Given the description of an element on the screen output the (x, y) to click on. 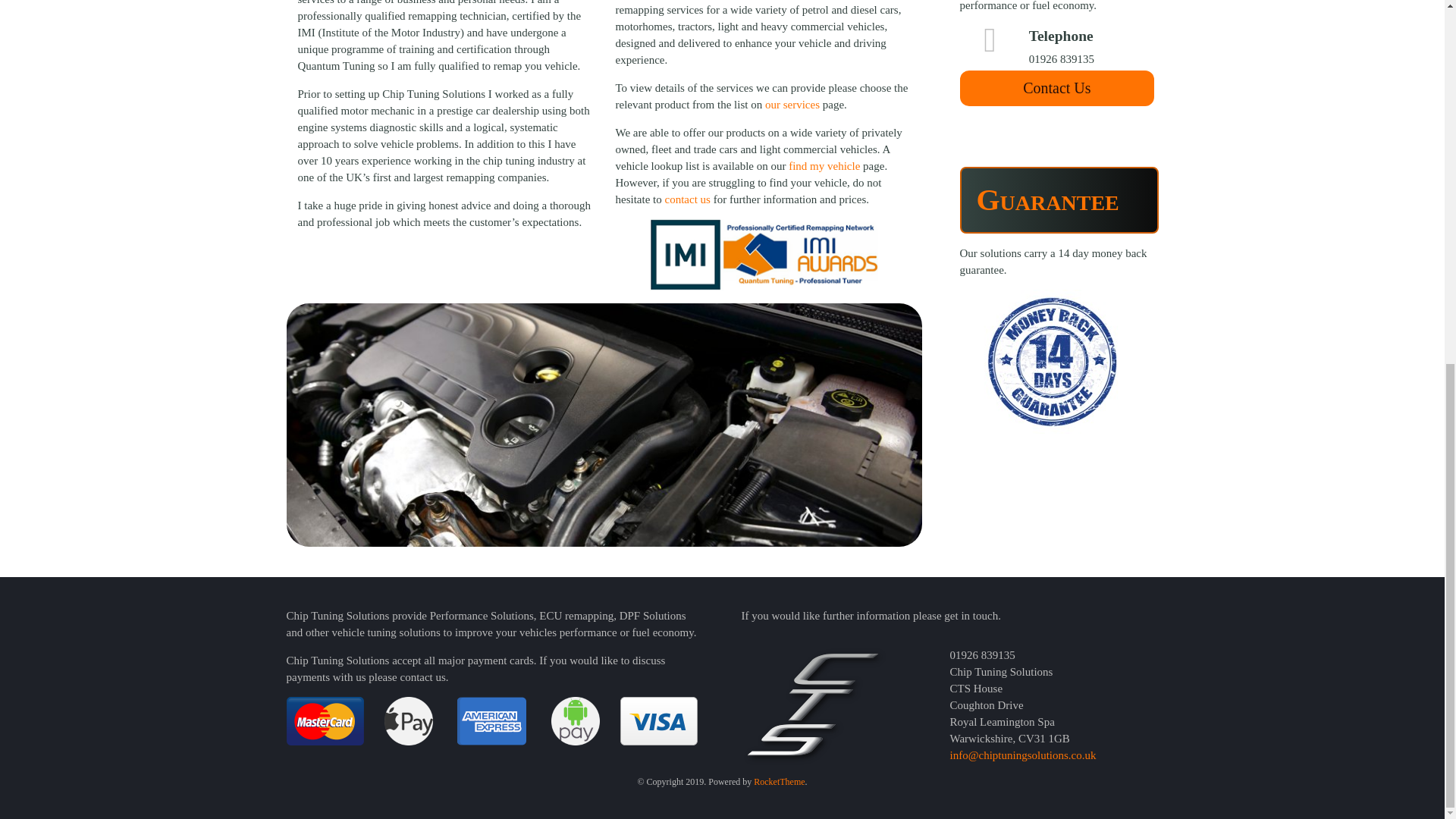
Get in touch with CTS (1056, 88)
find my vehicle (823, 165)
contact Chip Tuning Solutions (688, 199)
IMI Awards logo (763, 255)
find my vehicle (823, 165)
our services (792, 104)
contact us (688, 199)
RocketTheme (779, 781)
see our services page (792, 104)
Contact Us (1056, 88)
